Given the description of an element on the screen output the (x, y) to click on. 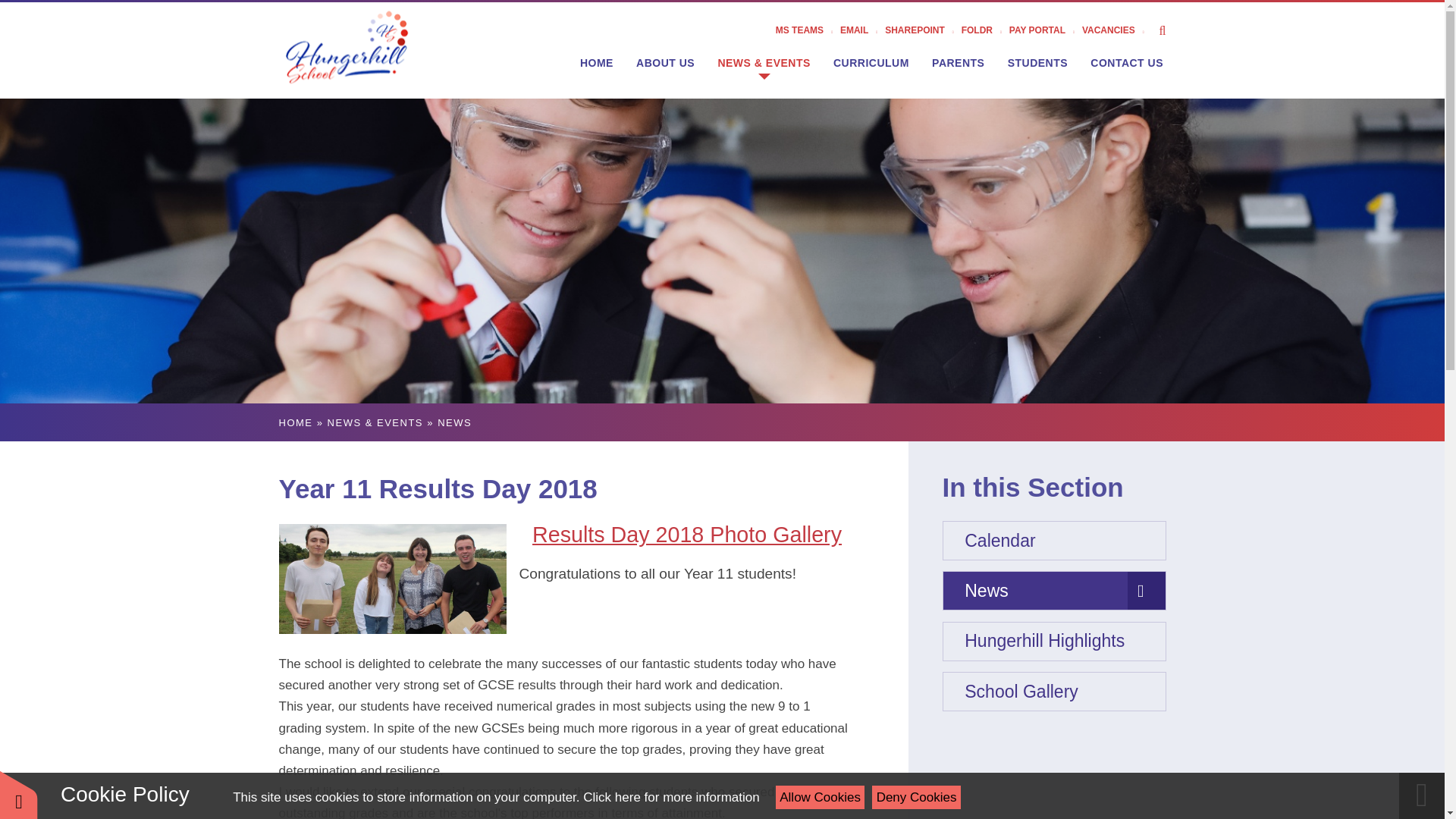
Email (862, 30)
Pay Portal (1045, 30)
HOME (595, 62)
Vacancies (1116, 30)
ABOUT US (665, 62)
Allow Cookies (820, 797)
FoldR (984, 30)
MS Teams (808, 30)
See cookie policy (670, 797)
Sharepoint (922, 30)
